Given the description of an element on the screen output the (x, y) to click on. 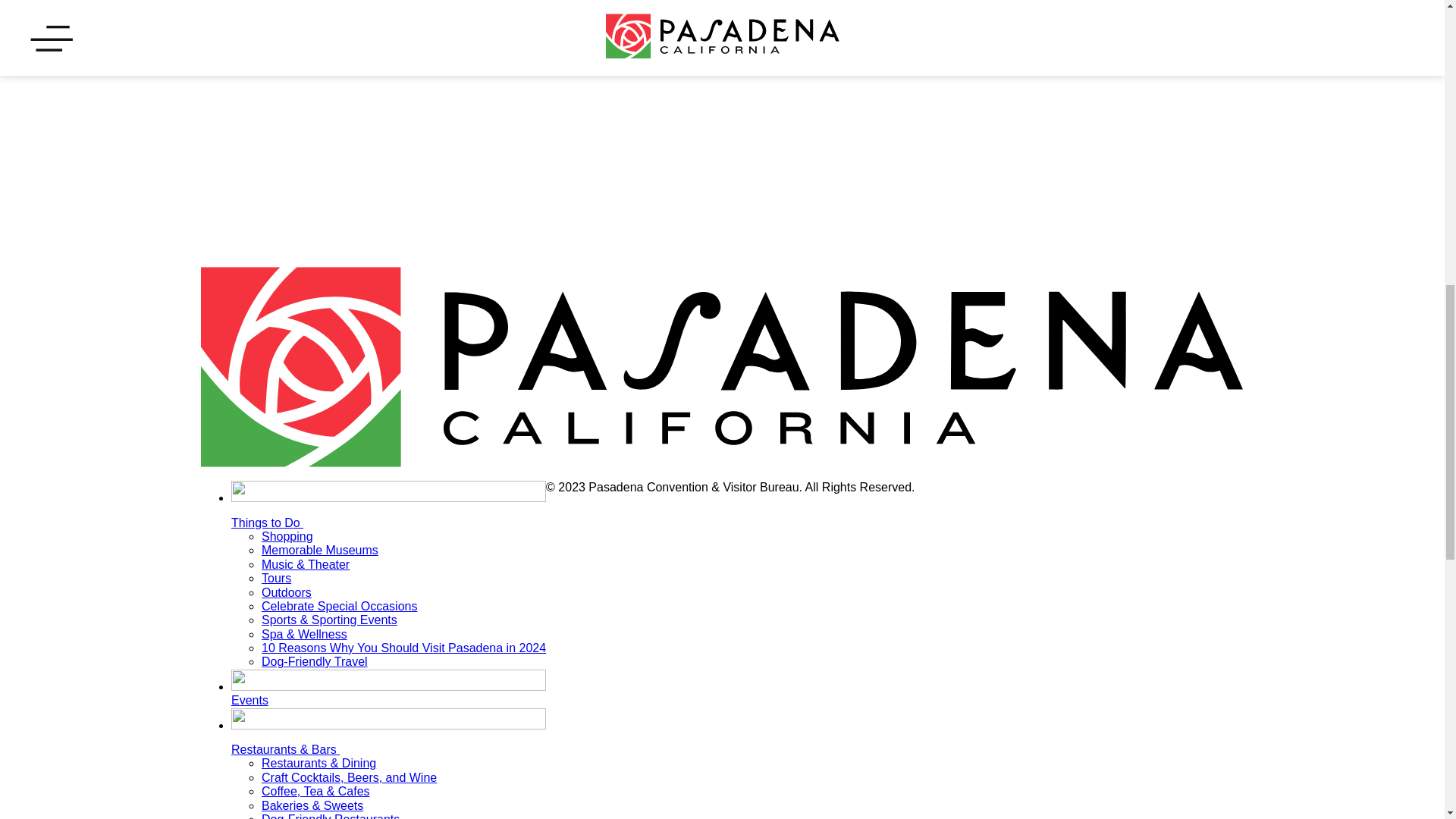
Celebrate Special Occasions (339, 605)
Things to Do (388, 509)
Toggle Subnavigation (350, 743)
Tours (276, 577)
Shopping (287, 535)
Outdoors (286, 591)
Toggle Subnavigation (313, 517)
Memorable Museums (320, 549)
10 Reasons Why You Should Visit Pasadena in 2024 (404, 647)
